Given the description of an element on the screen output the (x, y) to click on. 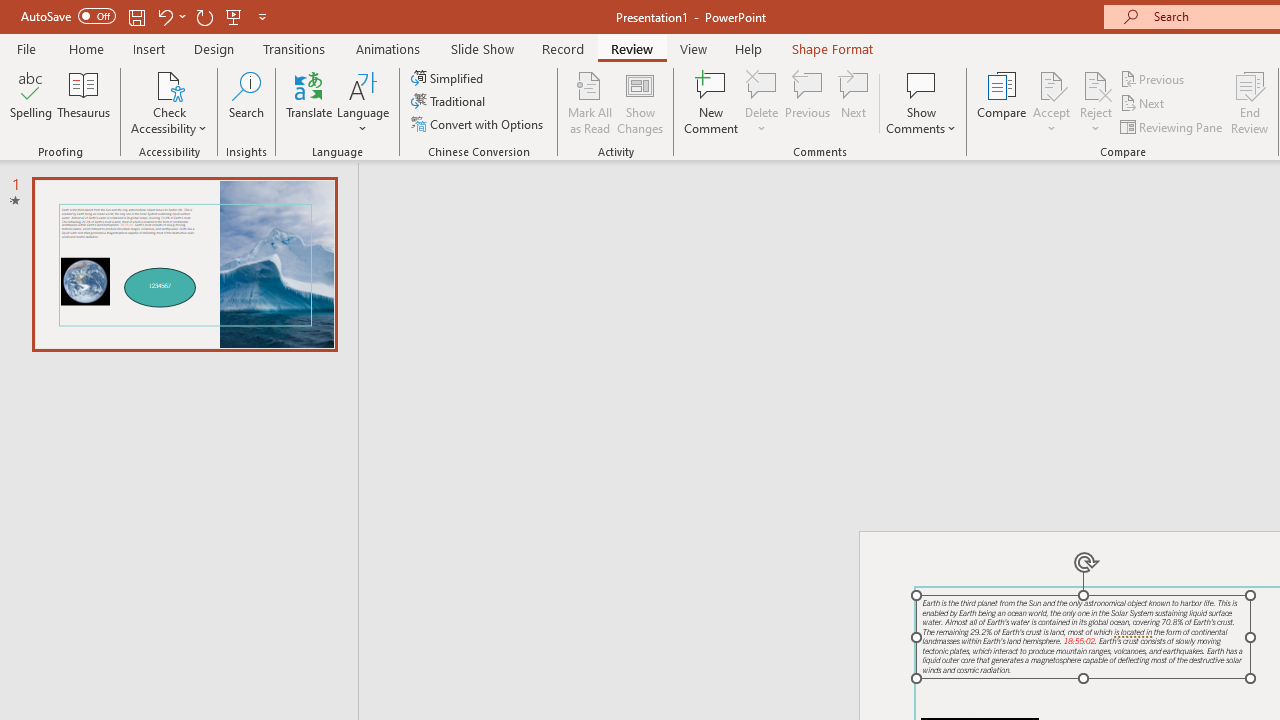
Convert with Options... (479, 124)
Spelling... (31, 102)
Next (1144, 103)
Traditional (449, 101)
Translate (309, 102)
Simplified (449, 78)
End Review (1249, 102)
Delete (762, 102)
